Given the description of an element on the screen output the (x, y) to click on. 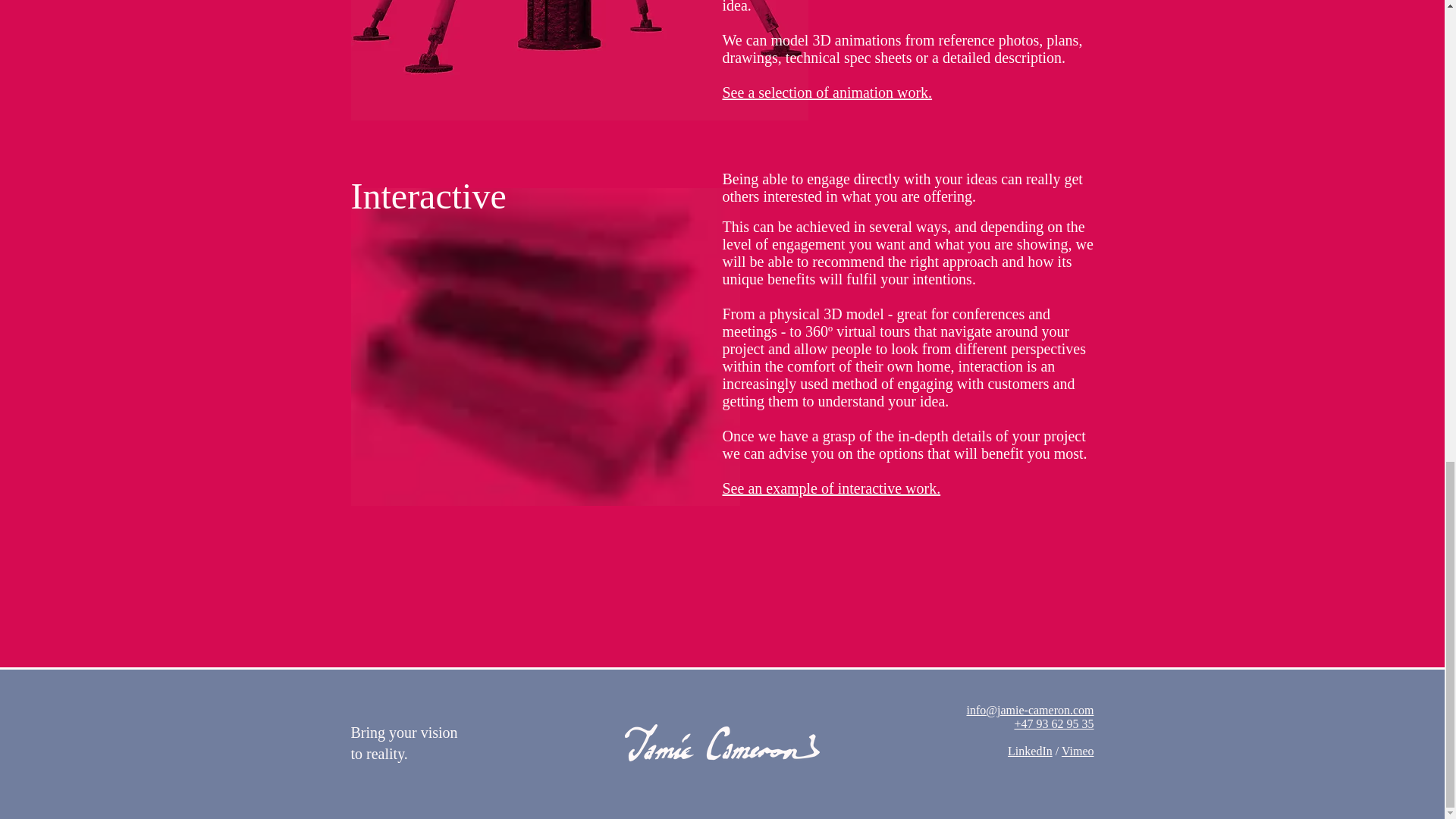
LinkedIn (1029, 750)
Vimeo (1077, 751)
See a selection of animation work. (826, 92)
See an example of interactive work. (831, 487)
